Given the description of an element on the screen output the (x, y) to click on. 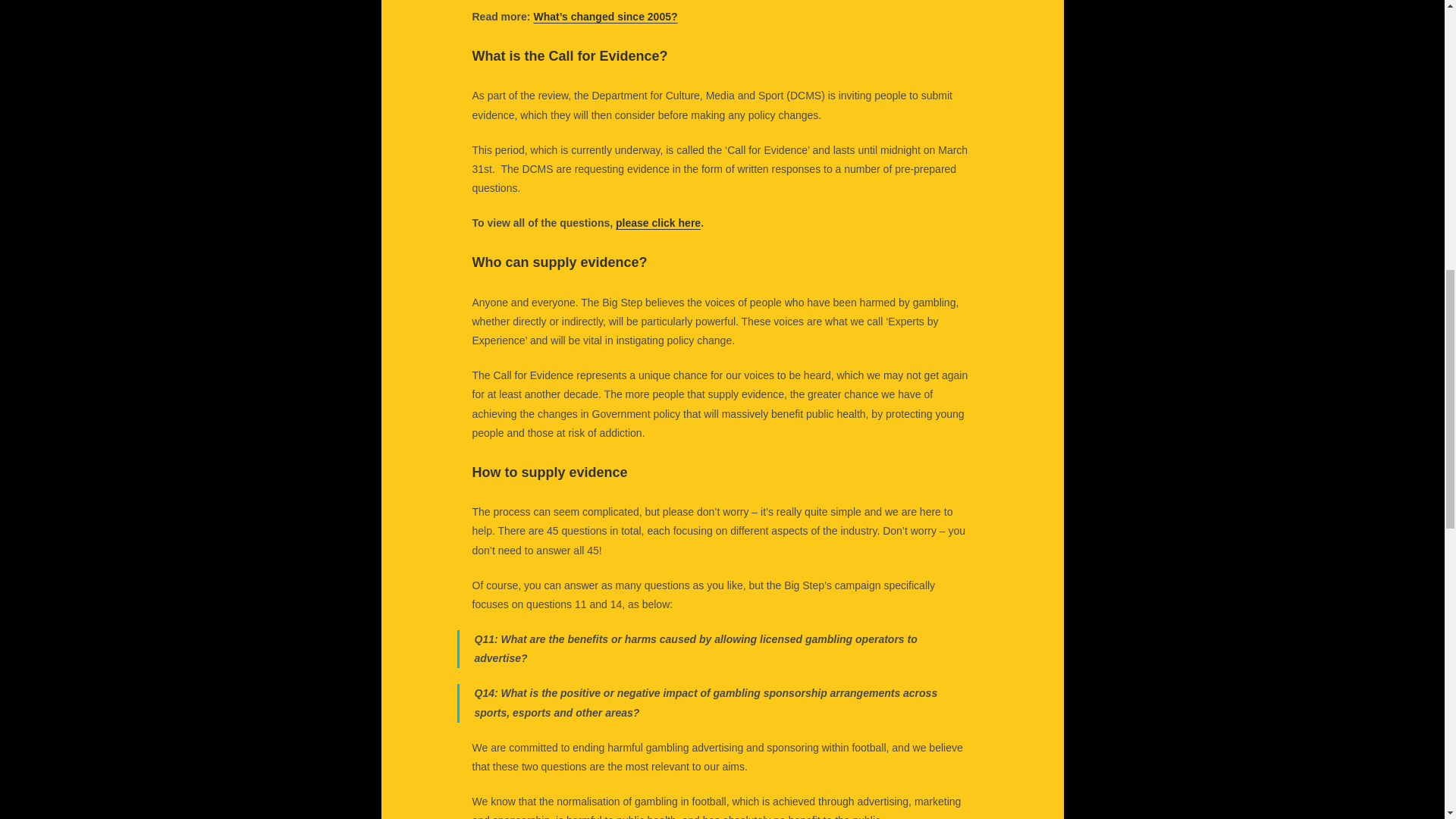
please click here (657, 223)
